Given the description of an element on the screen output the (x, y) to click on. 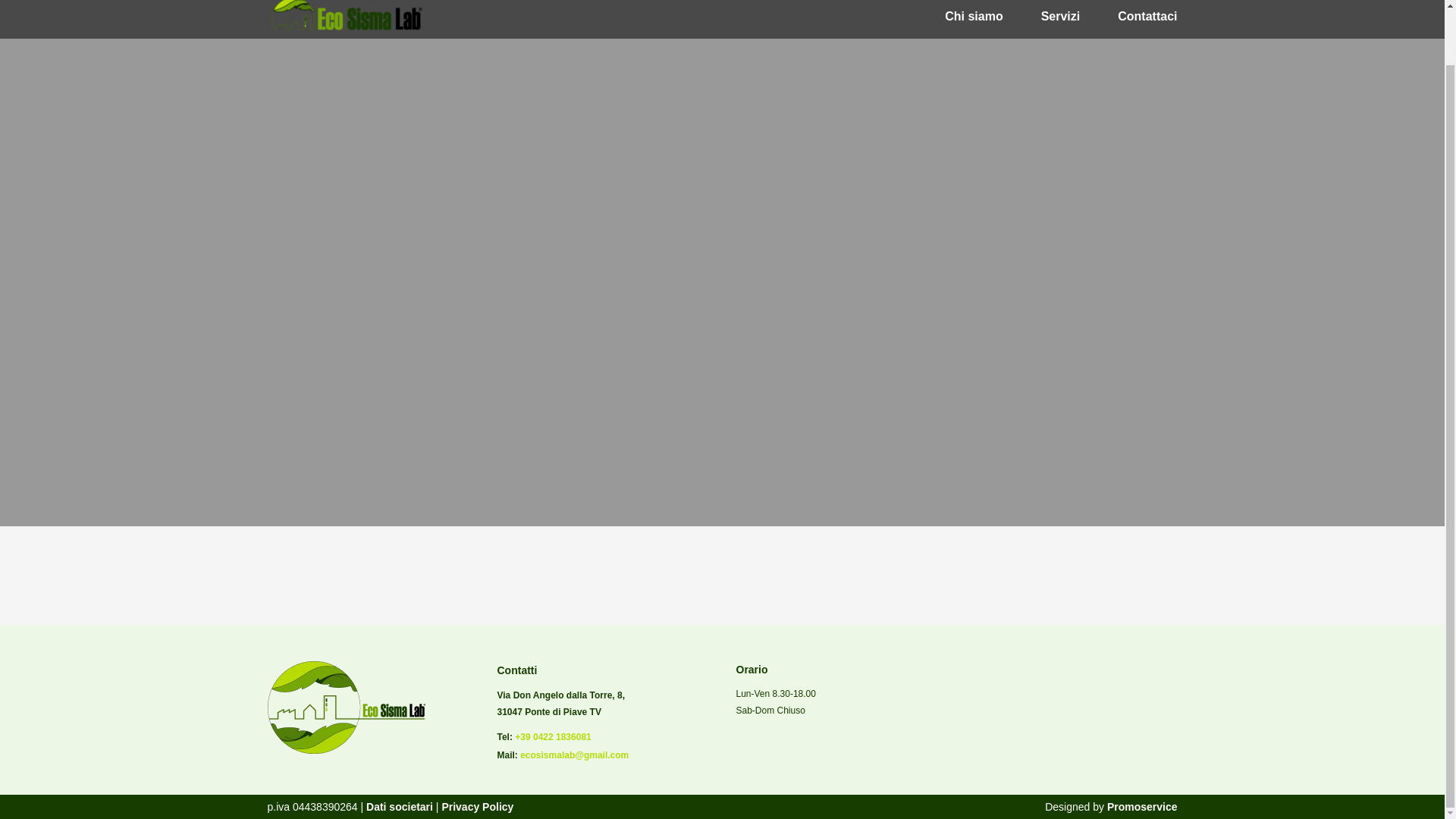
Privacy Policy (477, 806)
Dati societari (397, 806)
Servizi (1060, 15)
Promoservice (1141, 806)
Chi siamo (973, 15)
Contattaci (1147, 15)
